Given the description of an element on the screen output the (x, y) to click on. 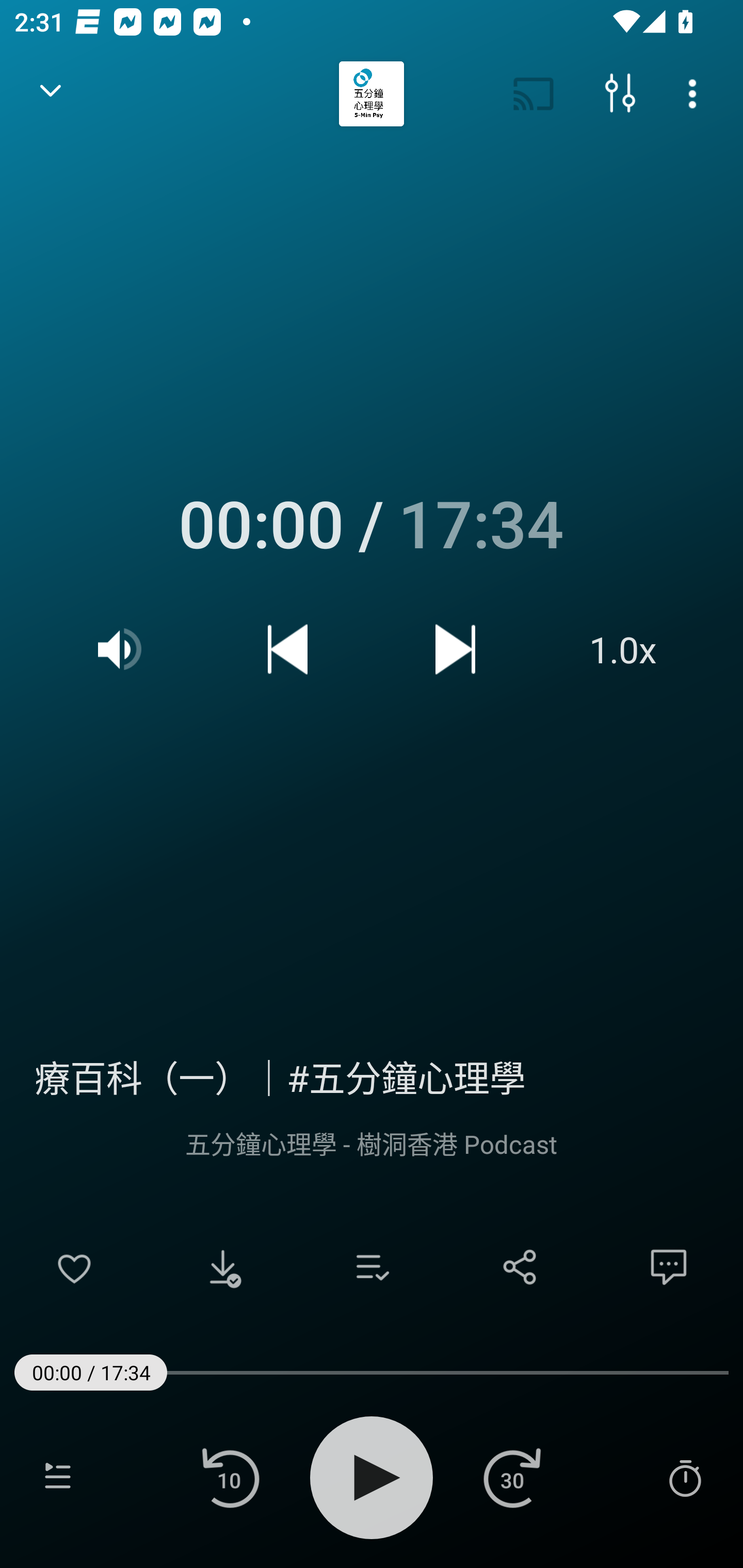
Cast. Disconnected (533, 93)
 Back (50, 94)
1.0x (622, 648)
#PSY｜困擾源於盲點？認知行為治療 CBT！心理治療百科（一）｜#五分鐘心理學 (371, 1075)
五分鐘心理學 - 樹洞香港 Podcast (371, 1142)
Comments (668, 1266)
Add to Favorites (73, 1266)
Add to playlist (371, 1266)
Share (519, 1266)
 Playlist (57, 1477)
Sleep Timer  (684, 1477)
